Given the description of an element on the screen output the (x, y) to click on. 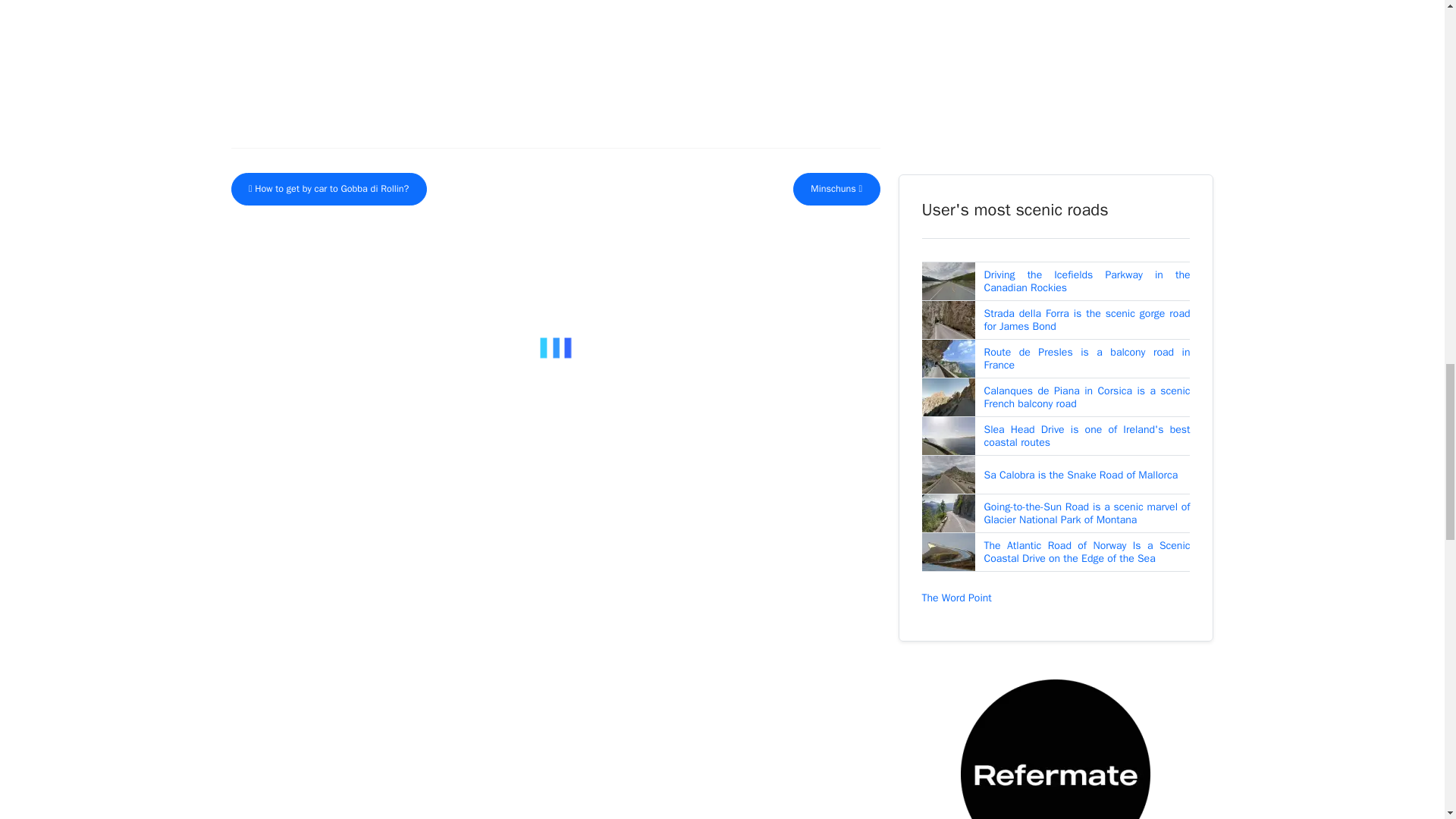
Slea Head Drive is one of Ireland's best coastal routes (1087, 436)
Sa Calobra is the Snake Road of Mallorca (1080, 474)
Route de Presles is a balcony road in France (1087, 358)
How to get by car to Gobba di Rollin? (328, 188)
Strada della Forra is the scenic gorge road for James Bond (1087, 320)
Refermate (1055, 773)
Minschuns (836, 188)
The Word Point (956, 597)
Driving the Icefields Parkway in the Canadian Rockies (1087, 281)
